Given the description of an element on the screen output the (x, y) to click on. 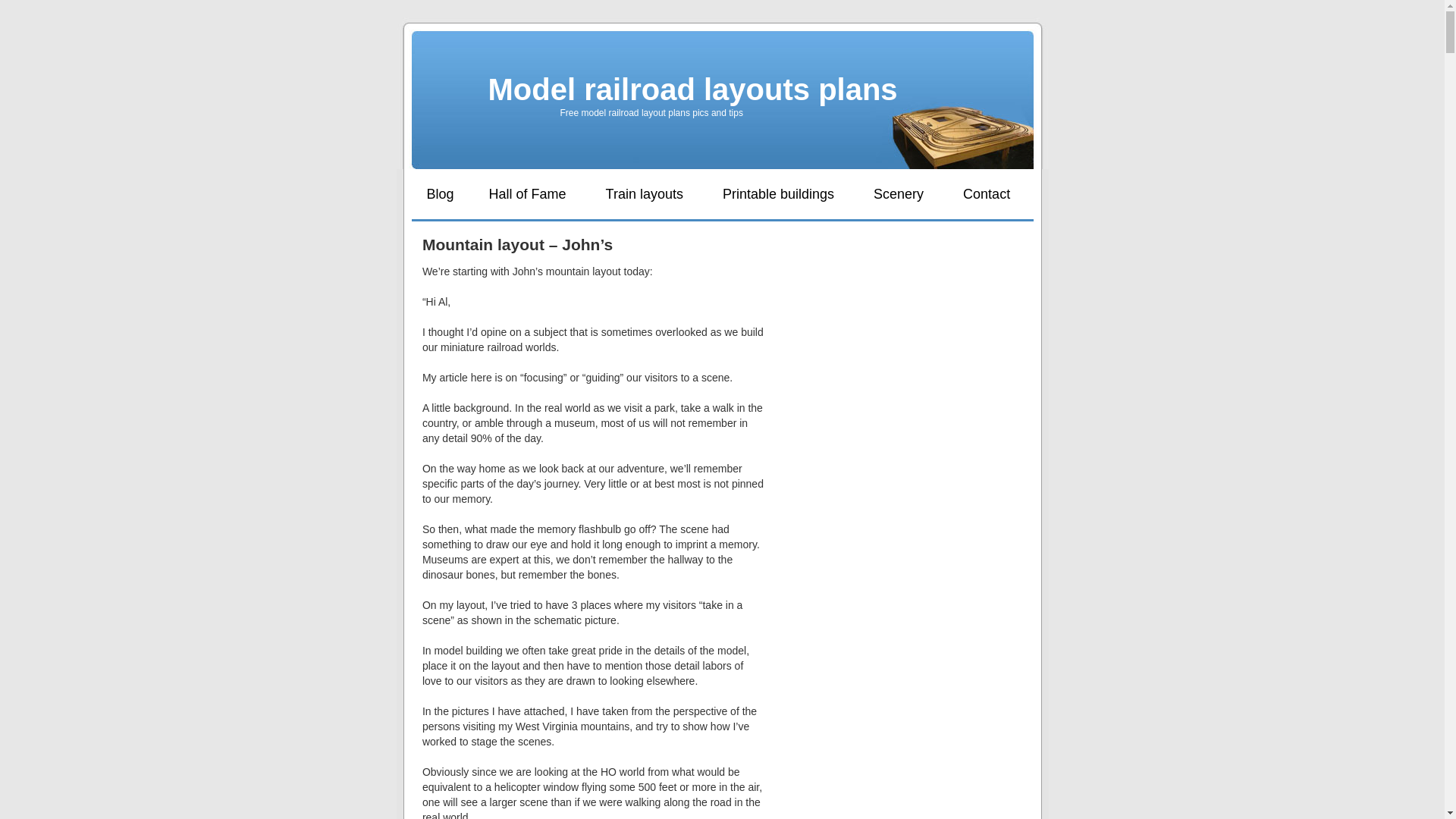
Train layouts (644, 193)
Hall of Fame (527, 193)
Blog (439, 193)
Model railroad layouts plans (692, 89)
Model railroad layouts plans (692, 89)
Model train scenery (898, 193)
